Given the description of an element on the screen output the (x, y) to click on. 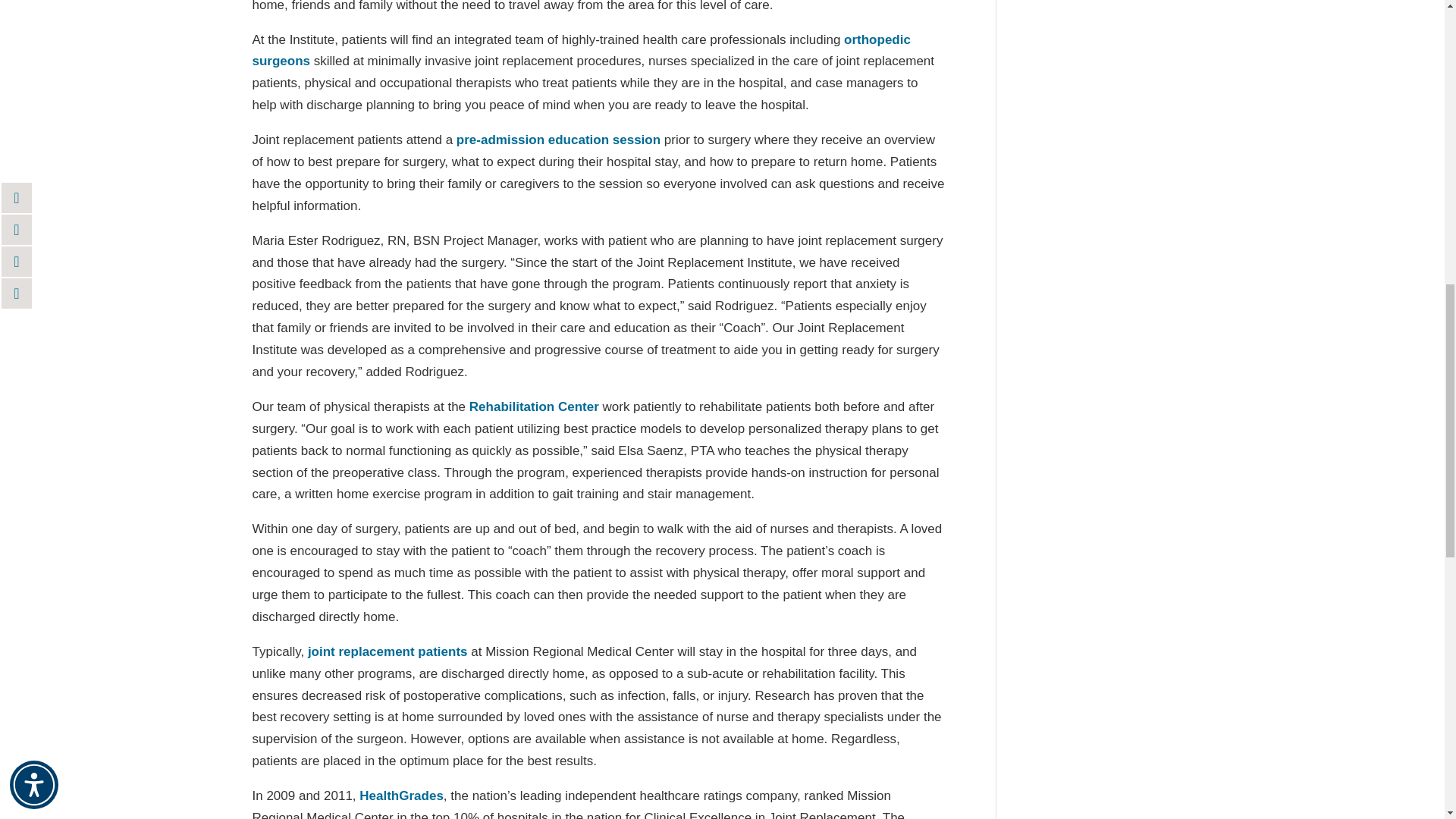
orthopedic surgeons (580, 49)
HealthGrades (401, 795)
pre-admission education session (559, 139)
Rehabilitation Center (533, 406)
joint replacement patients (387, 651)
